Given the description of an element on the screen output the (x, y) to click on. 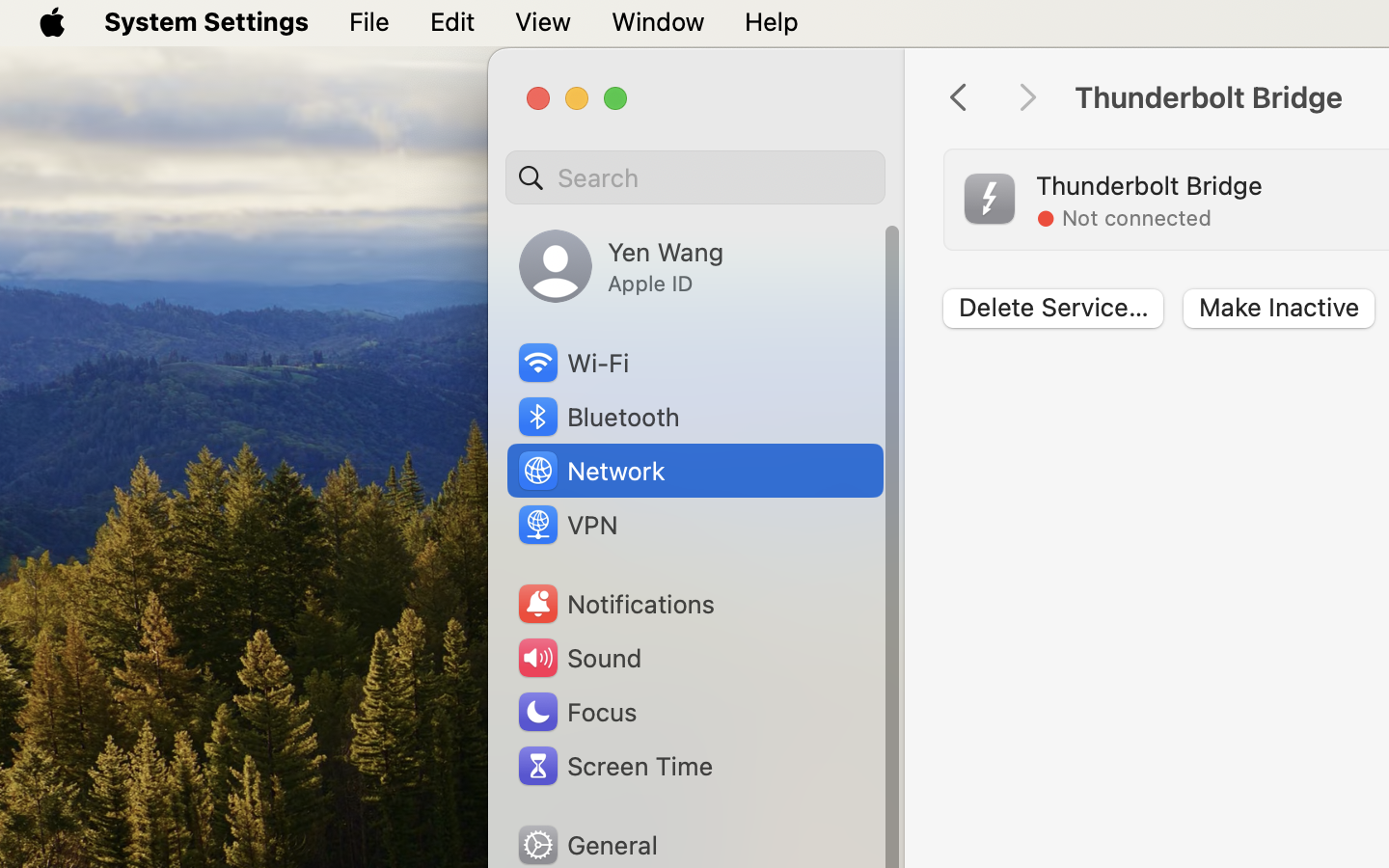
Notifications Element type: AXStaticText (615, 603)
Bluetooth Element type: AXStaticText (597, 416)
General Element type: AXStaticText (586, 844)
Not connected Element type: AXStaticText (1136, 217)
Focus Element type: AXStaticText (575, 711)
